Given the description of an element on the screen output the (x, y) to click on. 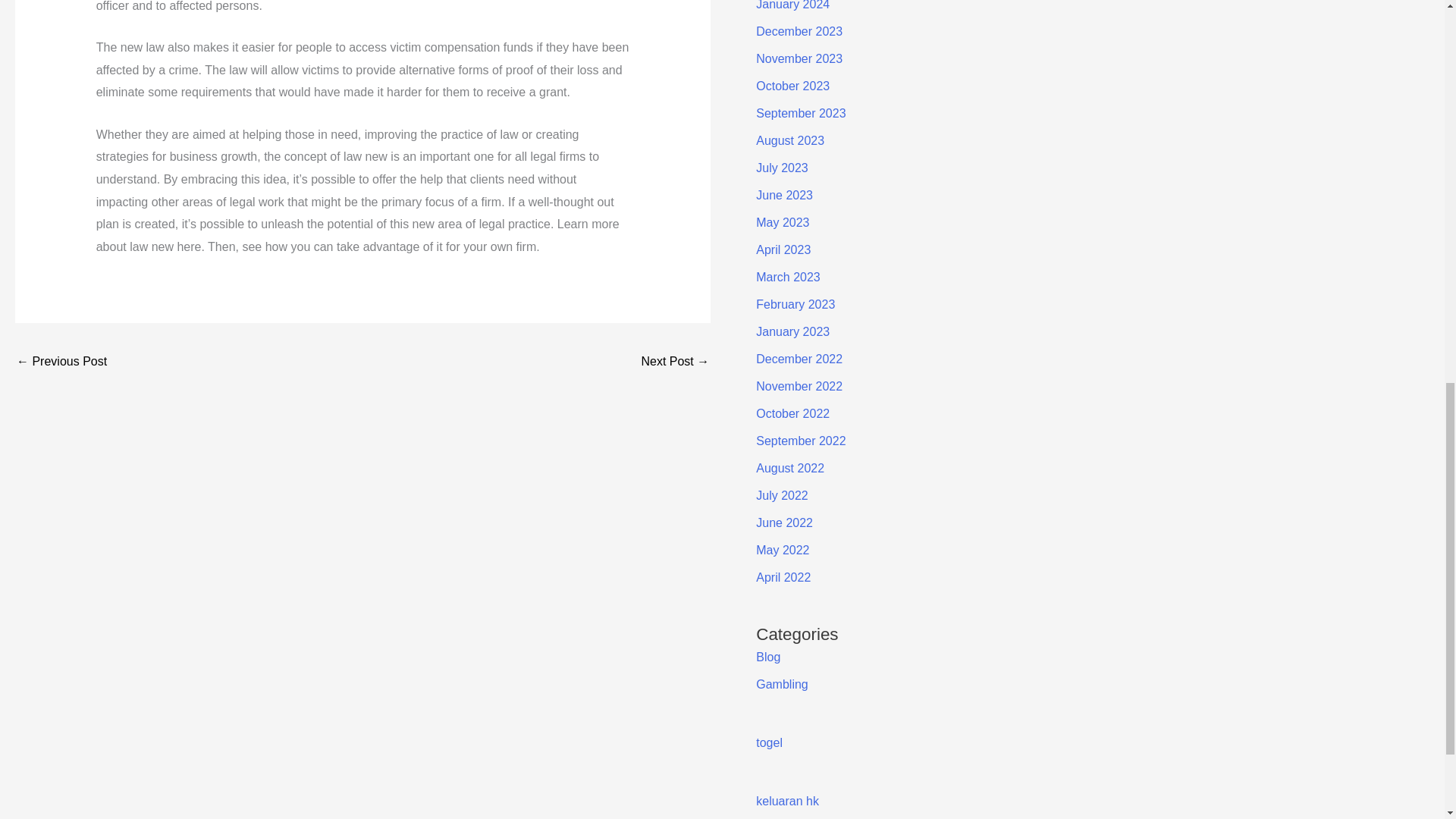
July 2023 (781, 167)
April 2023 (782, 249)
November 2022 (799, 386)
December 2022 (799, 358)
October 2023 (792, 85)
September 2023 (800, 113)
May 2023 (782, 222)
August 2023 (789, 140)
February 2023 (794, 304)
March 2023 (788, 277)
January 2023 (792, 331)
October 2022 (792, 413)
November 2023 (799, 58)
June 2023 (783, 195)
The Basics of Poker (61, 362)
